Given the description of an element on the screen output the (x, y) to click on. 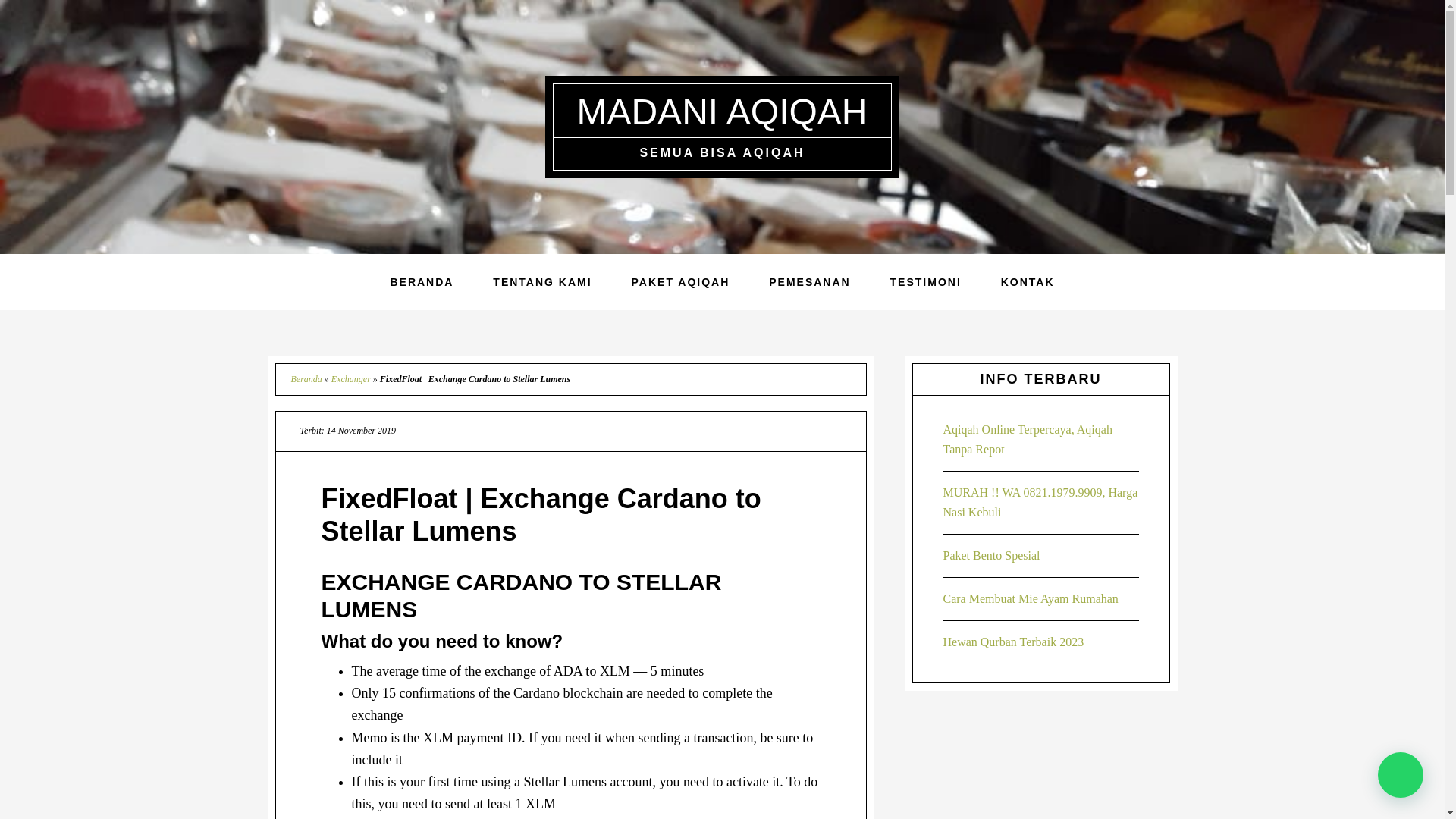
Exchanger (351, 378)
Beranda (306, 378)
TENTANG KAMI (542, 281)
MURAH !! WA 0821.1979.9909, Harga Nasi Kebuli (1040, 502)
Paket Bento Spesial (992, 554)
PAKET AQIQAH (680, 281)
TESTIMONI (925, 281)
KONTAK (1027, 281)
PEMESANAN (809, 281)
Aqiqah Online Terpercaya, Aqiqah Tanpa Repot (1027, 439)
MADANI AQIQAH (721, 111)
Hewan Qurban Terbaik 2023 (1013, 641)
BERANDA (421, 281)
Cara Membuat Mie Ayam Rumahan (1030, 598)
